Given the description of an element on the screen output the (x, y) to click on. 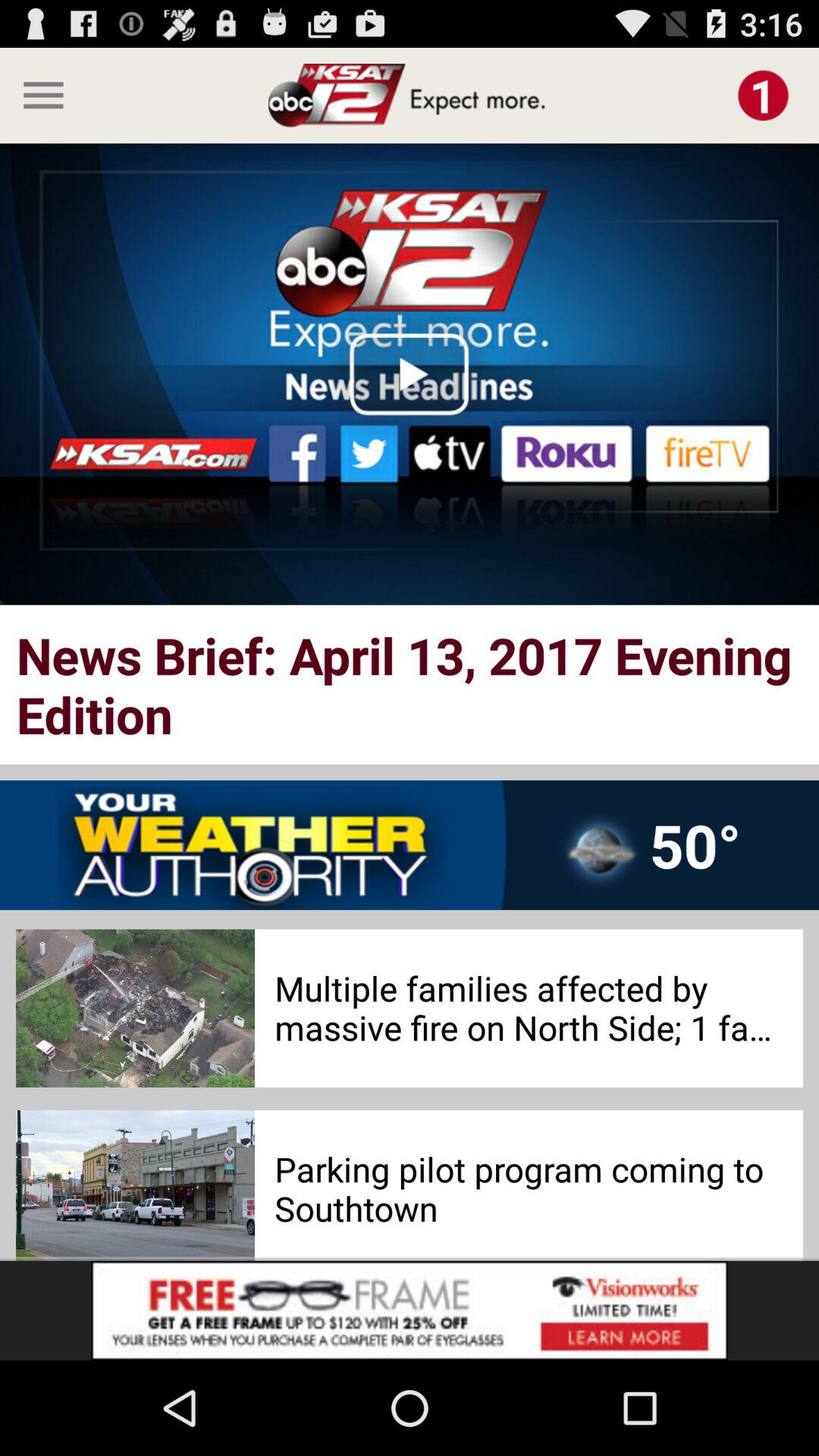
view advertisement (409, 1310)
